Given the description of an element on the screen output the (x, y) to click on. 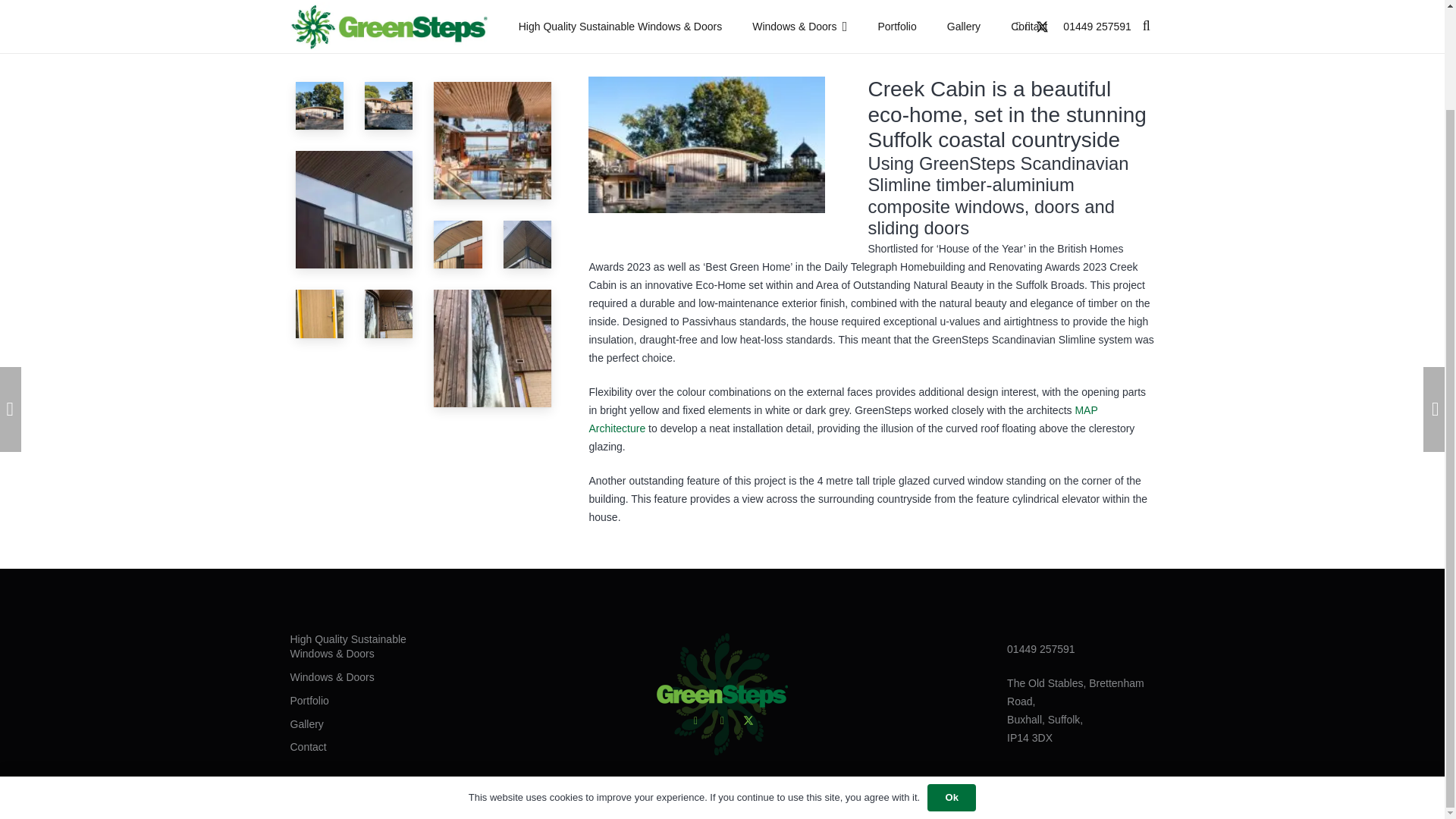
Creek Cabin 8 (354, 209)
Creek Cabin 7 (457, 244)
Creek Cabin 2 (389, 313)
Twitter (748, 605)
Creek Cabin 1 (389, 105)
Houzz (695, 605)
Creek Cabin 3 (319, 313)
Creek Cabin 2 (319, 105)
Creek Cabin 5 (492, 140)
Facebook (722, 605)
